Given the description of an element on the screen output the (x, y) to click on. 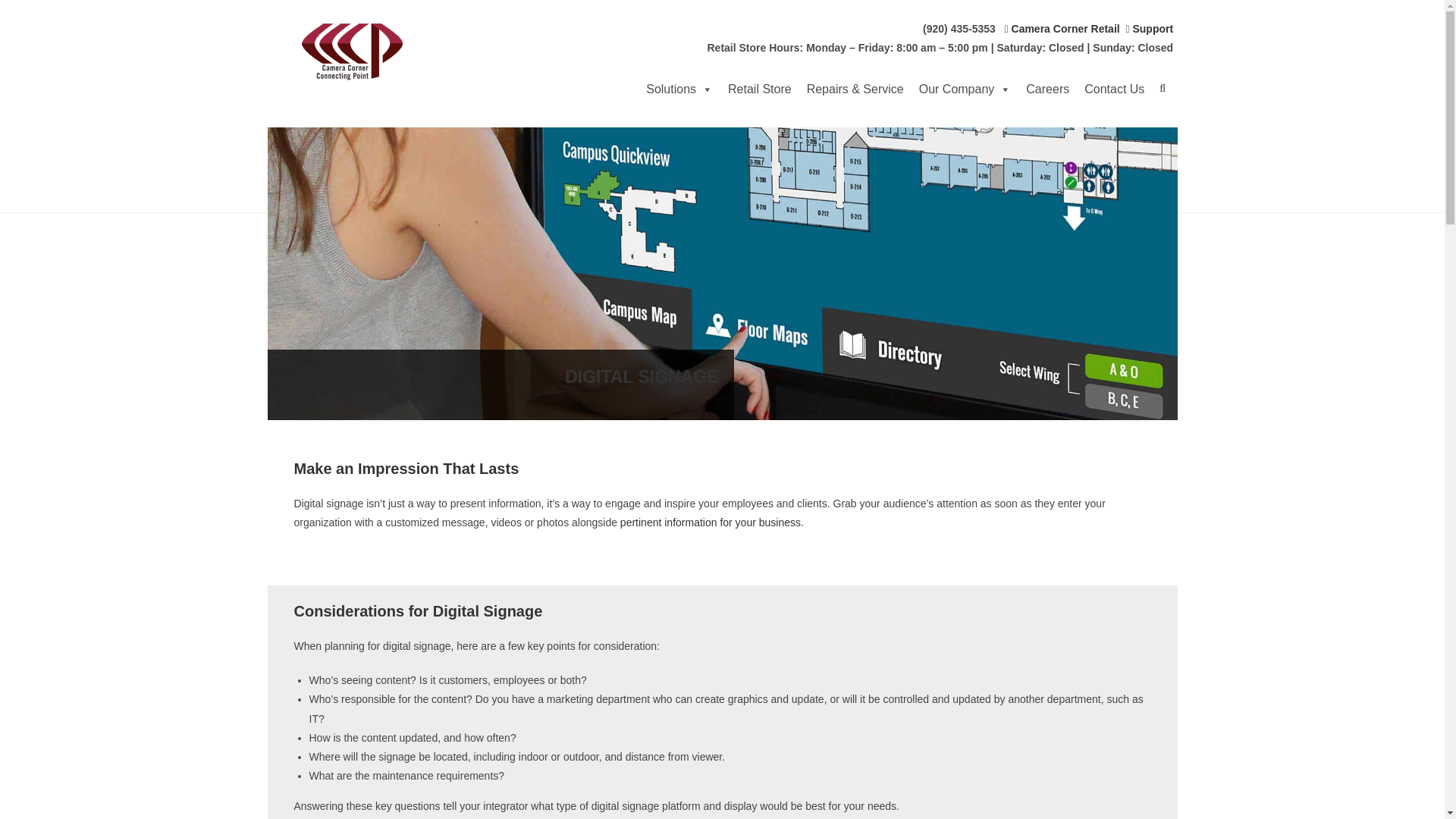
Solutions (679, 88)
HomePage (390, 51)
Solutions (679, 88)
Camera Corner Retail (1061, 28)
Support (1149, 28)
